Given the description of an element on the screen output the (x, y) to click on. 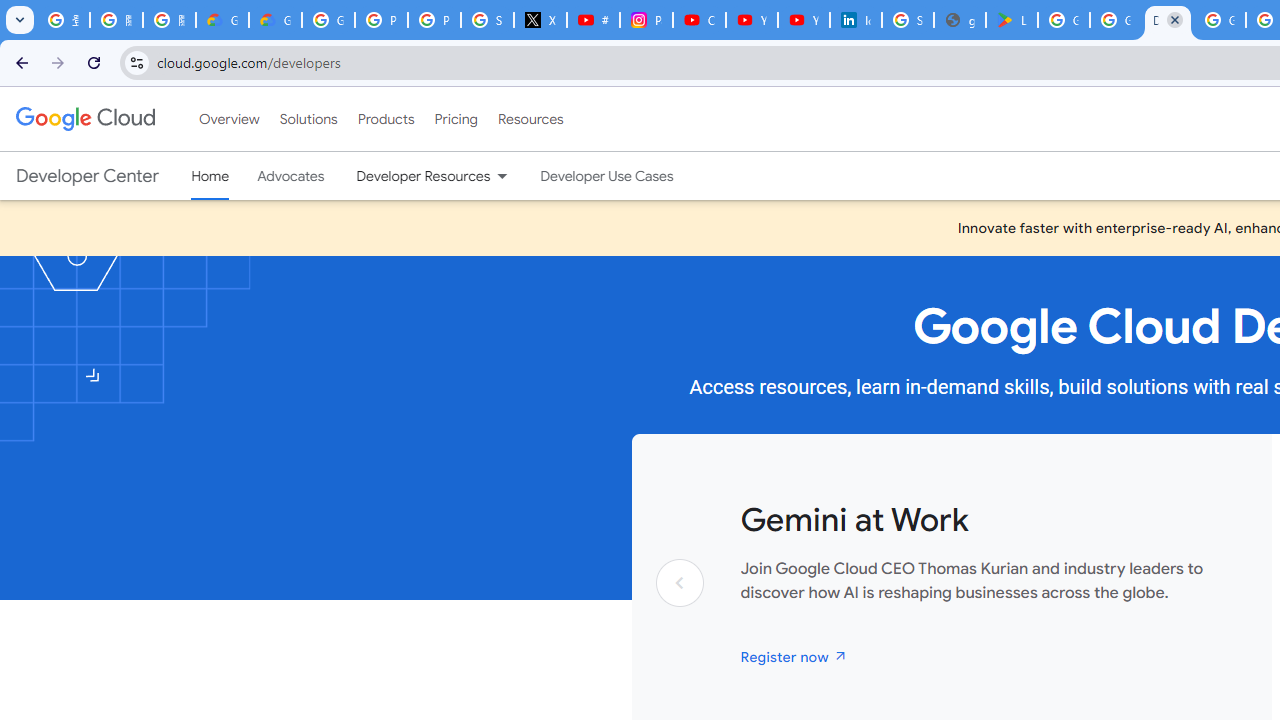
Advocates (291, 175)
Developer Center (87, 175)
Sign in - Google Accounts (907, 20)
Google Cloud Privacy Notice (222, 20)
Solutions (308, 119)
Google Cloud Privacy Notice (275, 20)
Dropdown menu for Developer Resources (502, 175)
